Given the description of an element on the screen output the (x, y) to click on. 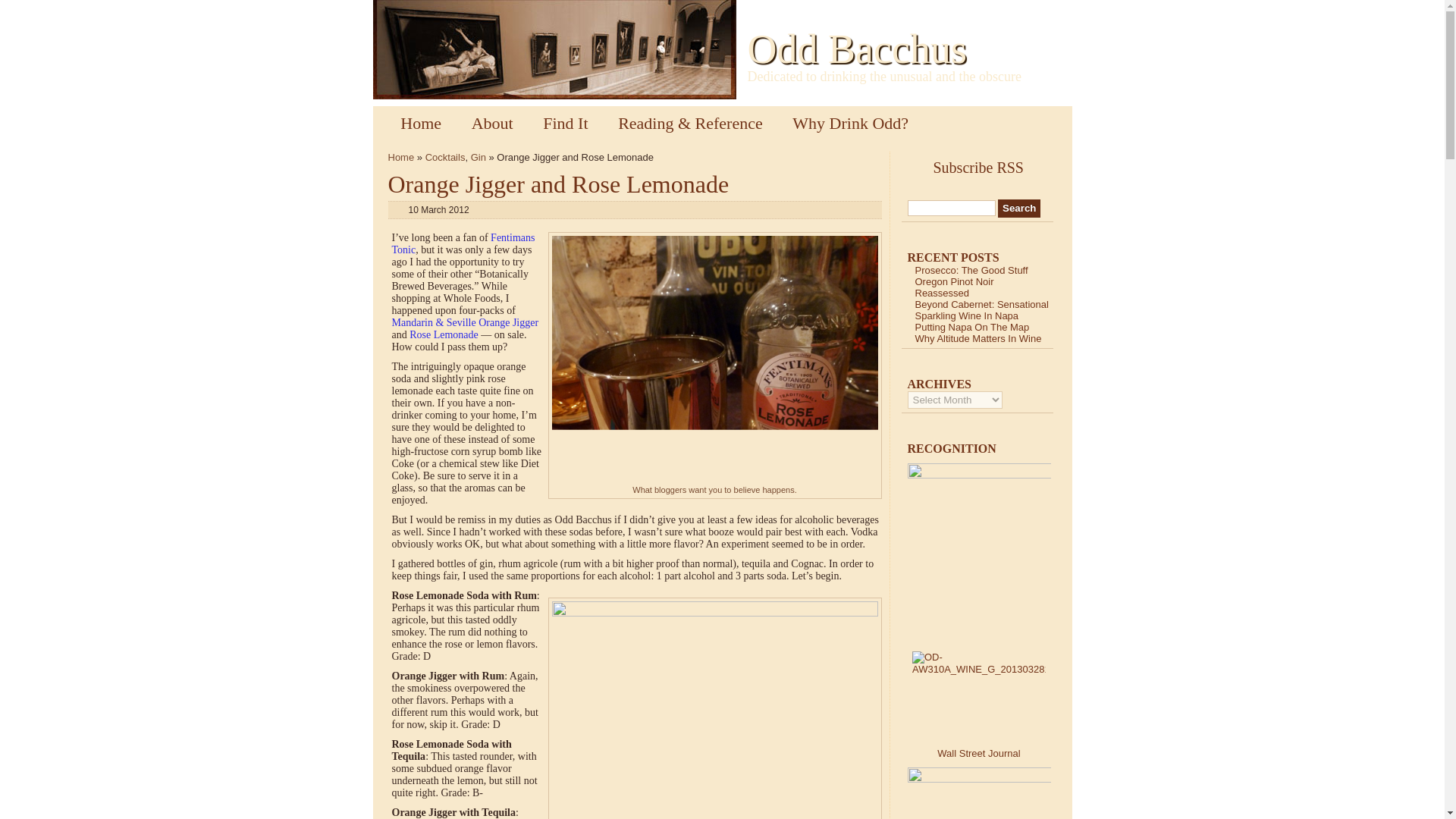
Gin (478, 156)
Find It (564, 122)
Oregon Pinot Noir Reassessed (953, 287)
Rose Lemonade (444, 334)
About (492, 122)
Putting Napa On The Map (971, 326)
Subscribe RSS (982, 166)
Odd Bacchus (857, 49)
Home (401, 156)
Search (1019, 208)
